Given the description of an element on the screen output the (x, y) to click on. 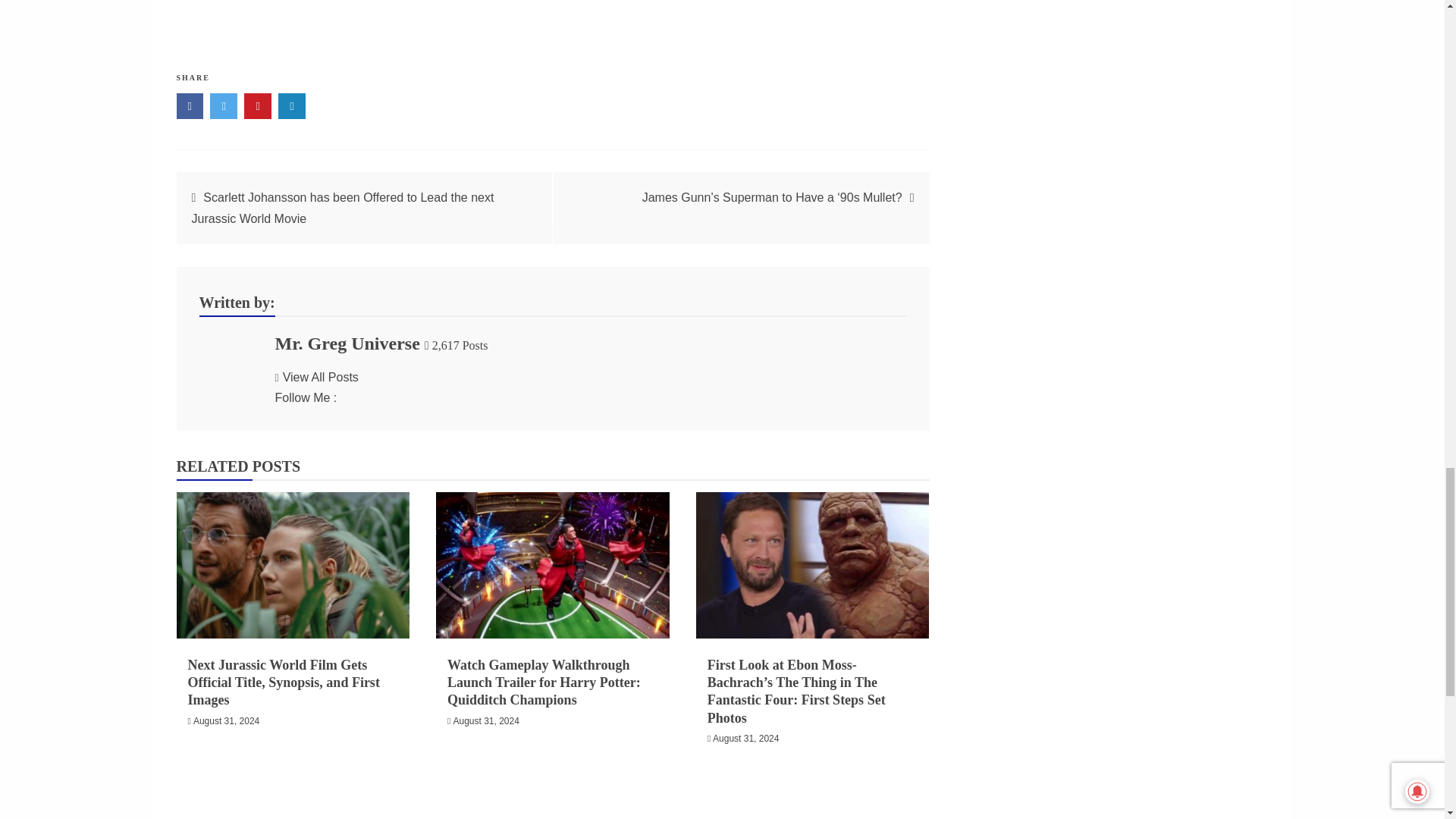
Posts by Mr. Greg Universe (347, 342)
